Given the description of an element on the screen output the (x, y) to click on. 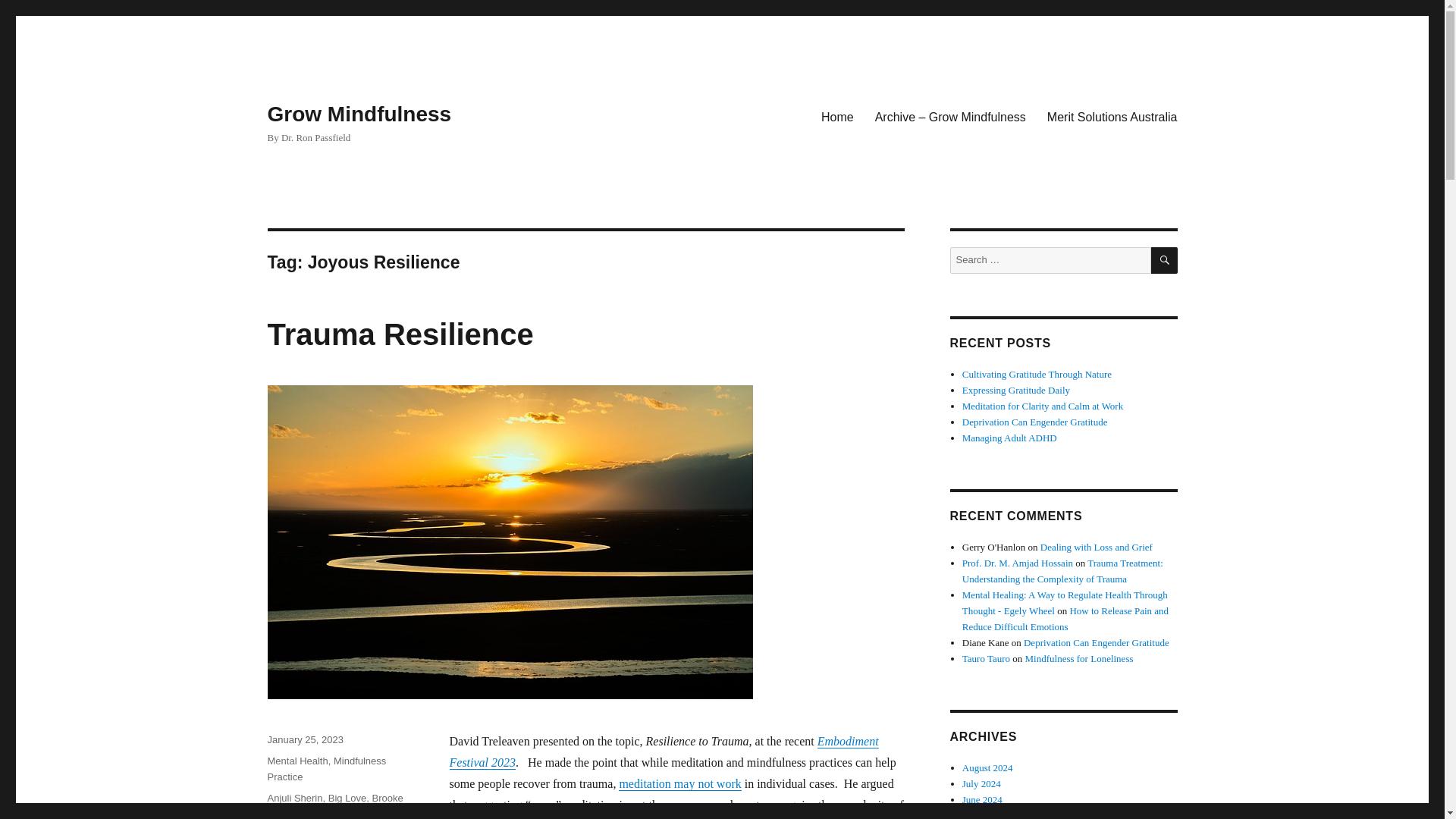
Mindfulness Practice (325, 768)
meditation may not work (679, 783)
Embodiment Festival 2023 (662, 751)
January 25, 2023 (304, 739)
Grow Mindfulness (358, 114)
Merit Solutions Australia (1112, 116)
Brooke Blurton (334, 805)
Anjuli Sherin (293, 797)
Trauma Resilience (399, 334)
Big Love (347, 797)
